Given the description of an element on the screen output the (x, y) to click on. 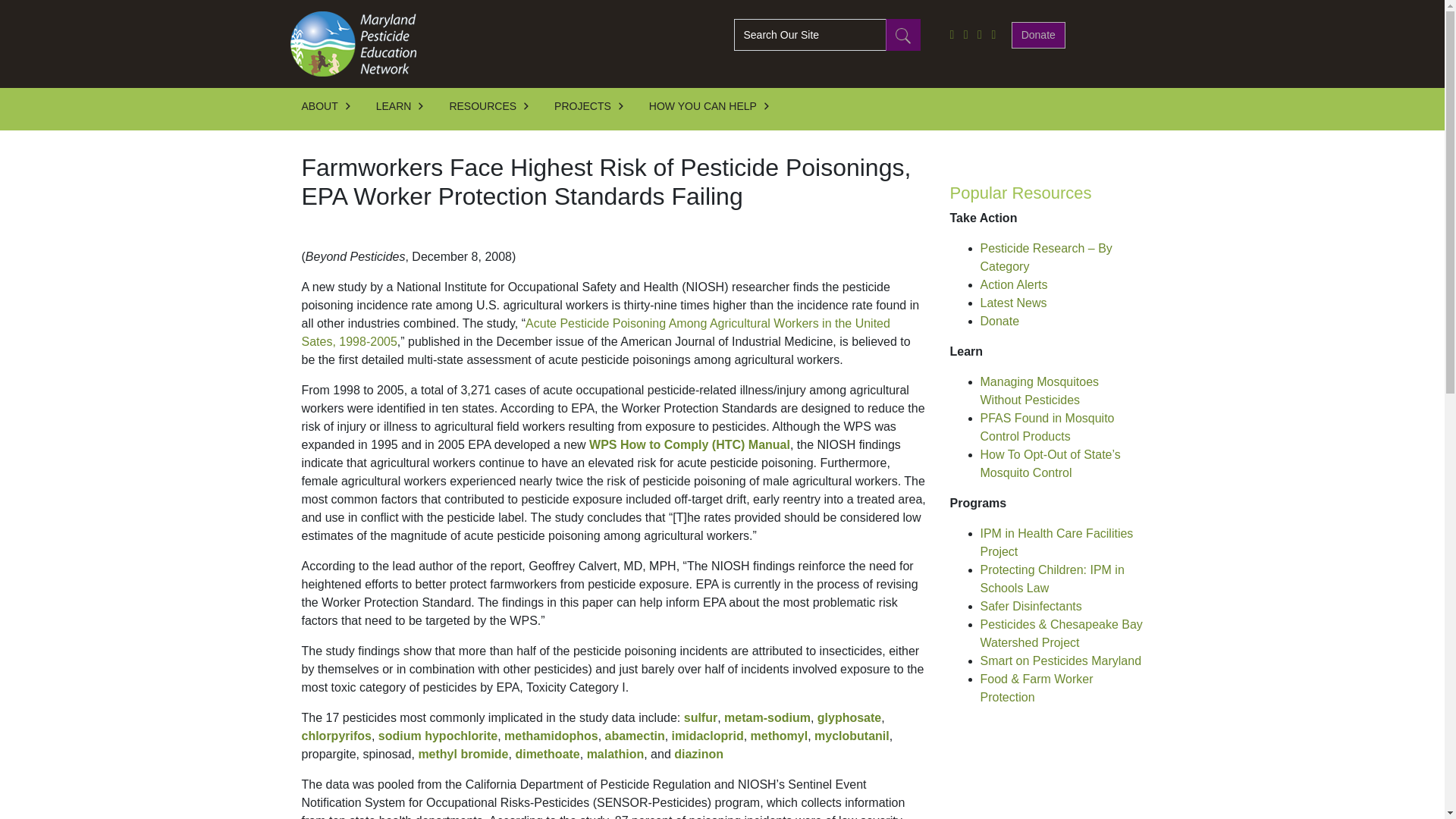
Donate (1038, 33)
ABOUT (333, 109)
PROJECTS (595, 109)
LEARN (406, 109)
Donate (1038, 35)
RESOURCES (495, 109)
